Given the description of an element on the screen output the (x, y) to click on. 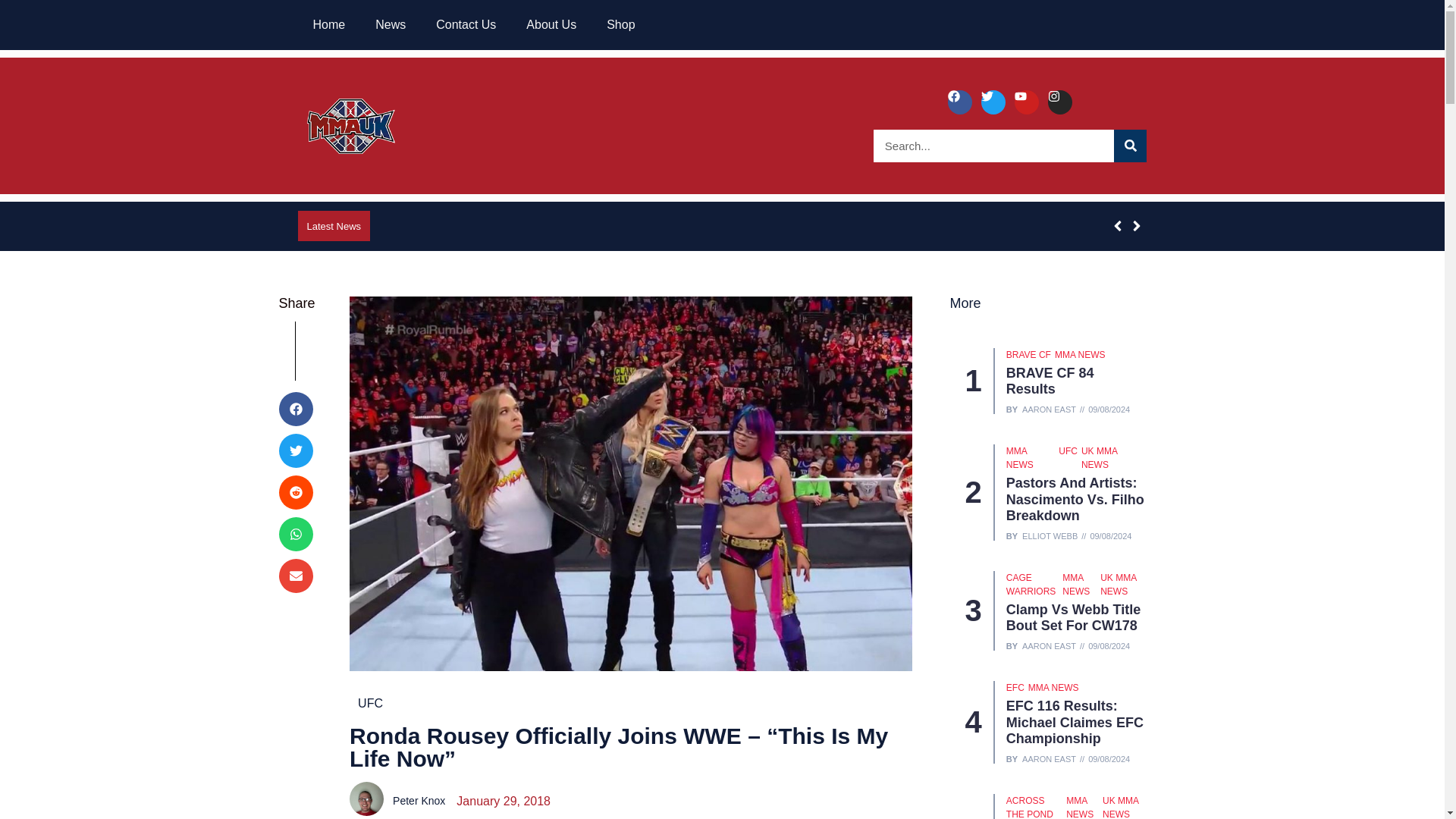
Clamp vs Webb Title Bout Set For CW178 (1073, 617)
Contact Us (465, 24)
News (389, 24)
EFC 116 results: Michael claimes EFC Championship (1074, 722)
Pastors and Artists: Nascimento vs. Filho Breakdown (1075, 499)
Shop (620, 24)
BRAVE CF 84 Results (1050, 381)
About Us (551, 24)
Home (328, 24)
